Given the description of an element on the screen output the (x, y) to click on. 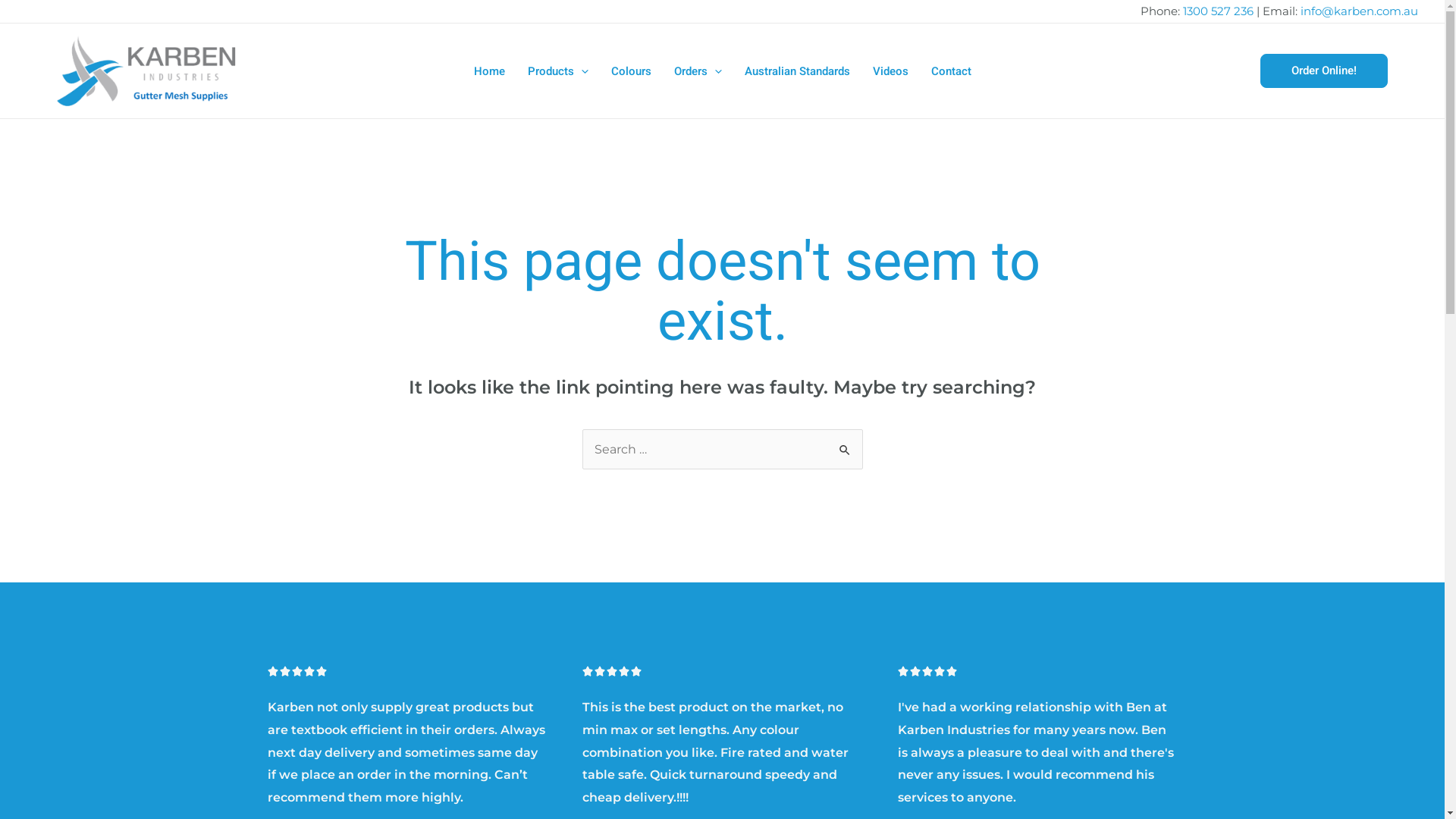
Australian Standards Element type: text (796, 70)
Orders Element type: text (697, 70)
Home Element type: text (489, 70)
Products Element type: text (557, 70)
Contact Element type: text (950, 70)
Colours Element type: text (630, 70)
Videos Element type: text (890, 70)
info@karben.com.au Element type: text (1359, 10)
Order Online! Element type: text (1323, 70)
Search Element type: text (845, 444)
1300 527 236 Element type: text (1218, 10)
